Given the description of an element on the screen output the (x, y) to click on. 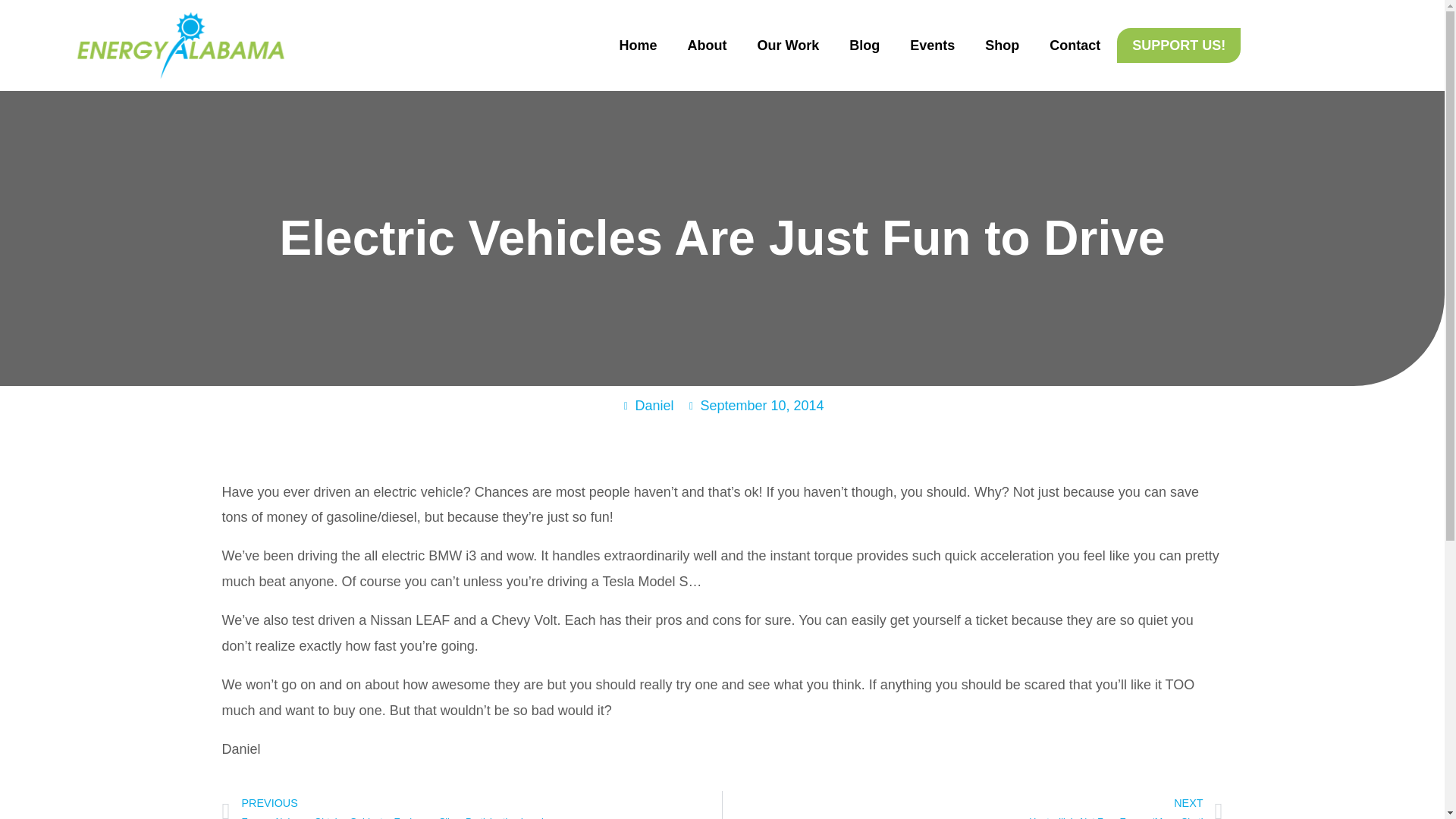
Contact (1074, 45)
Home (637, 45)
Shop (1001, 45)
SUPPORT US! (1178, 45)
Blog (864, 45)
Events (932, 45)
Our Work (787, 45)
About (706, 45)
